Given the description of an element on the screen output the (x, y) to click on. 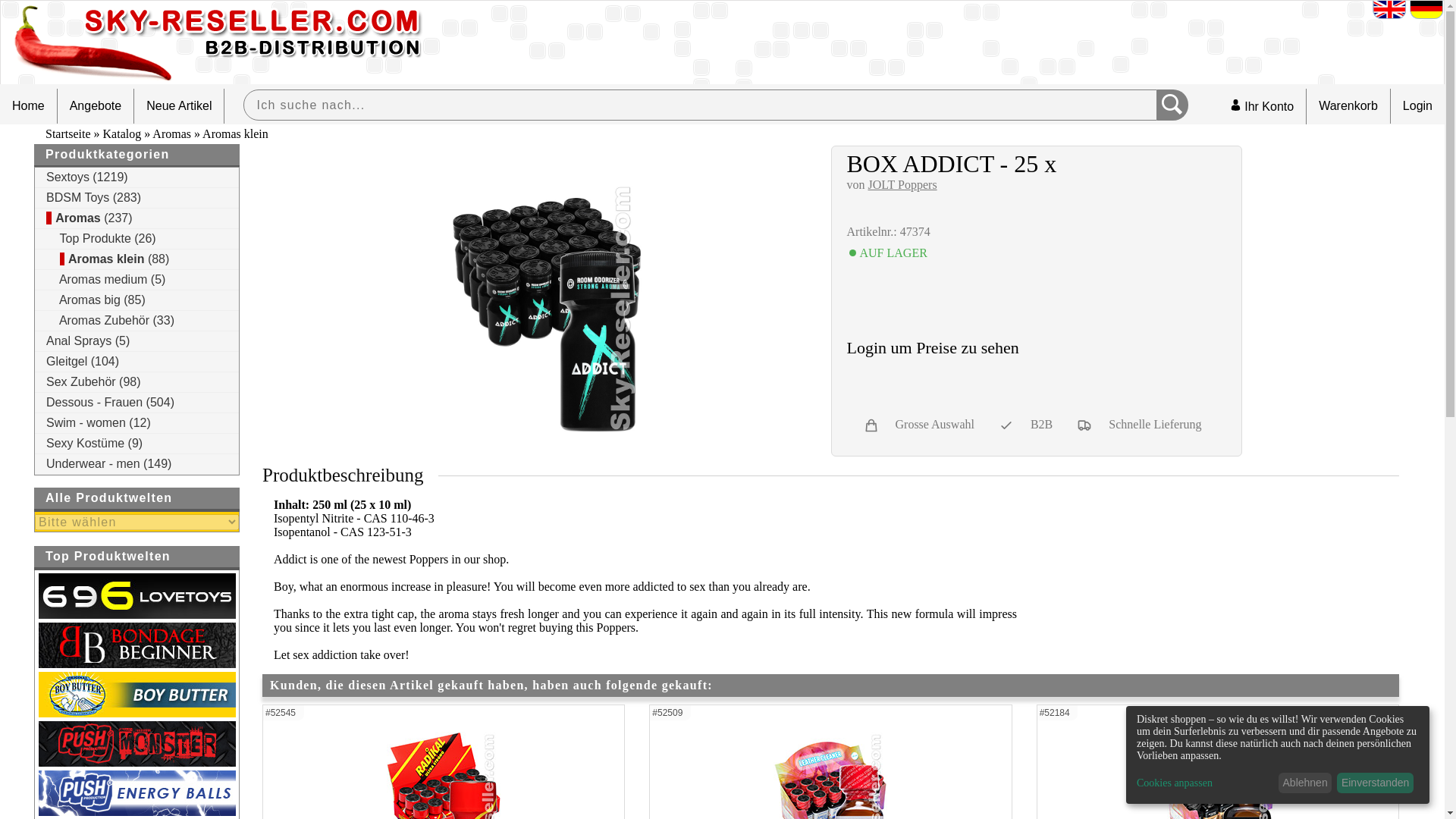
Startseite (67, 133)
 Suchen!  (1172, 104)
 Deutsch  (1426, 9)
Angebote (95, 105)
 English  (1389, 9)
Home (28, 105)
Aromas klein (234, 133)
Ihr Konto (1261, 106)
Katalog (122, 133)
Warenkorb (1348, 105)
